Given the description of an element on the screen output the (x, y) to click on. 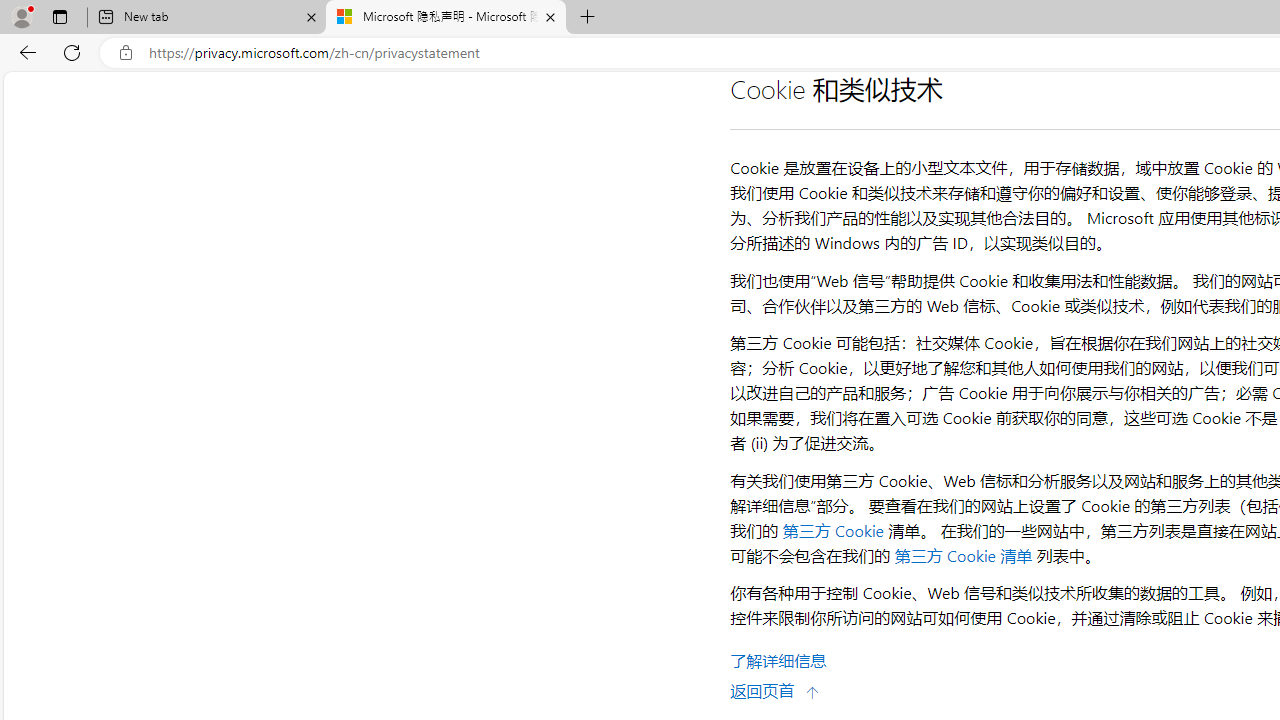
New tab (207, 17)
